Given the description of an element on the screen output the (x, y) to click on. 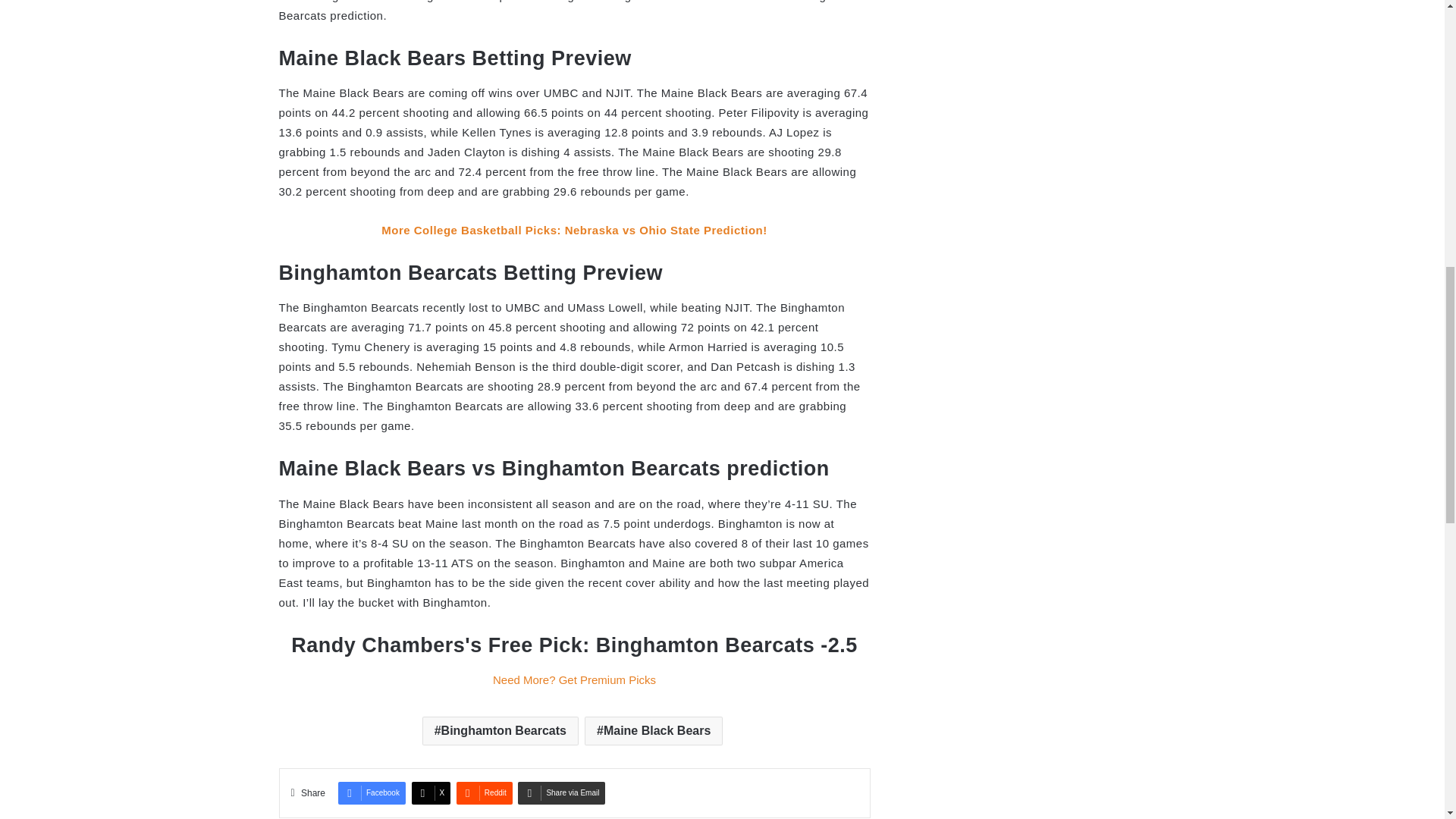
Facebook (371, 793)
Reddit (484, 793)
Share via Email (561, 793)
X (431, 793)
